Given the description of an element on the screen output the (x, y) to click on. 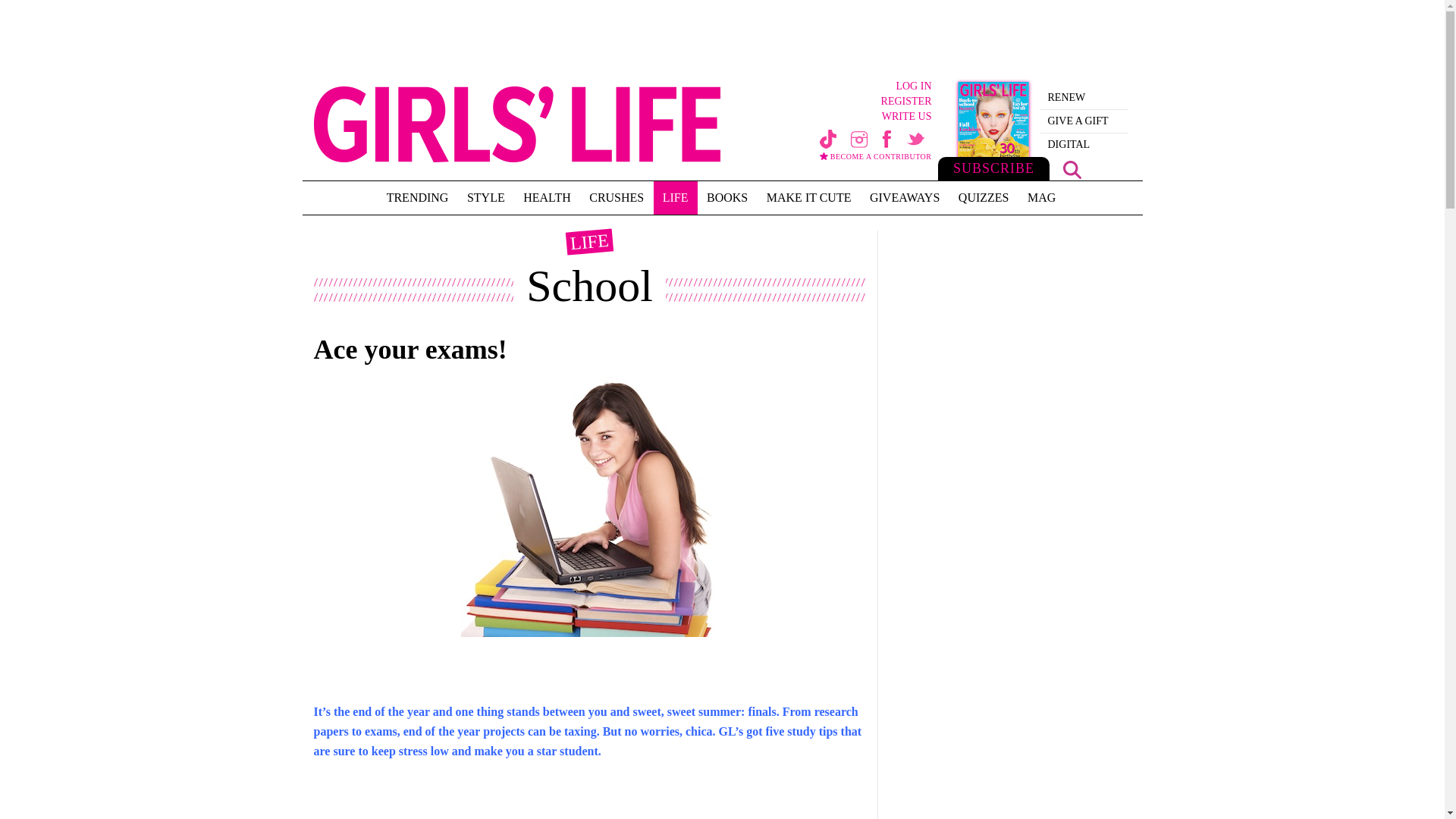
DIGITAL (1084, 144)
HEALTH (546, 197)
STYLE (485, 197)
REGISTER (844, 101)
TRENDING (417, 197)
CRUSHES (615, 197)
GIVE A GIFT (1084, 120)
SUBSCRIBE (994, 129)
BECOME A CONTRIBUTOR (875, 160)
RENEW (1084, 97)
